Given the description of an element on the screen output the (x, y) to click on. 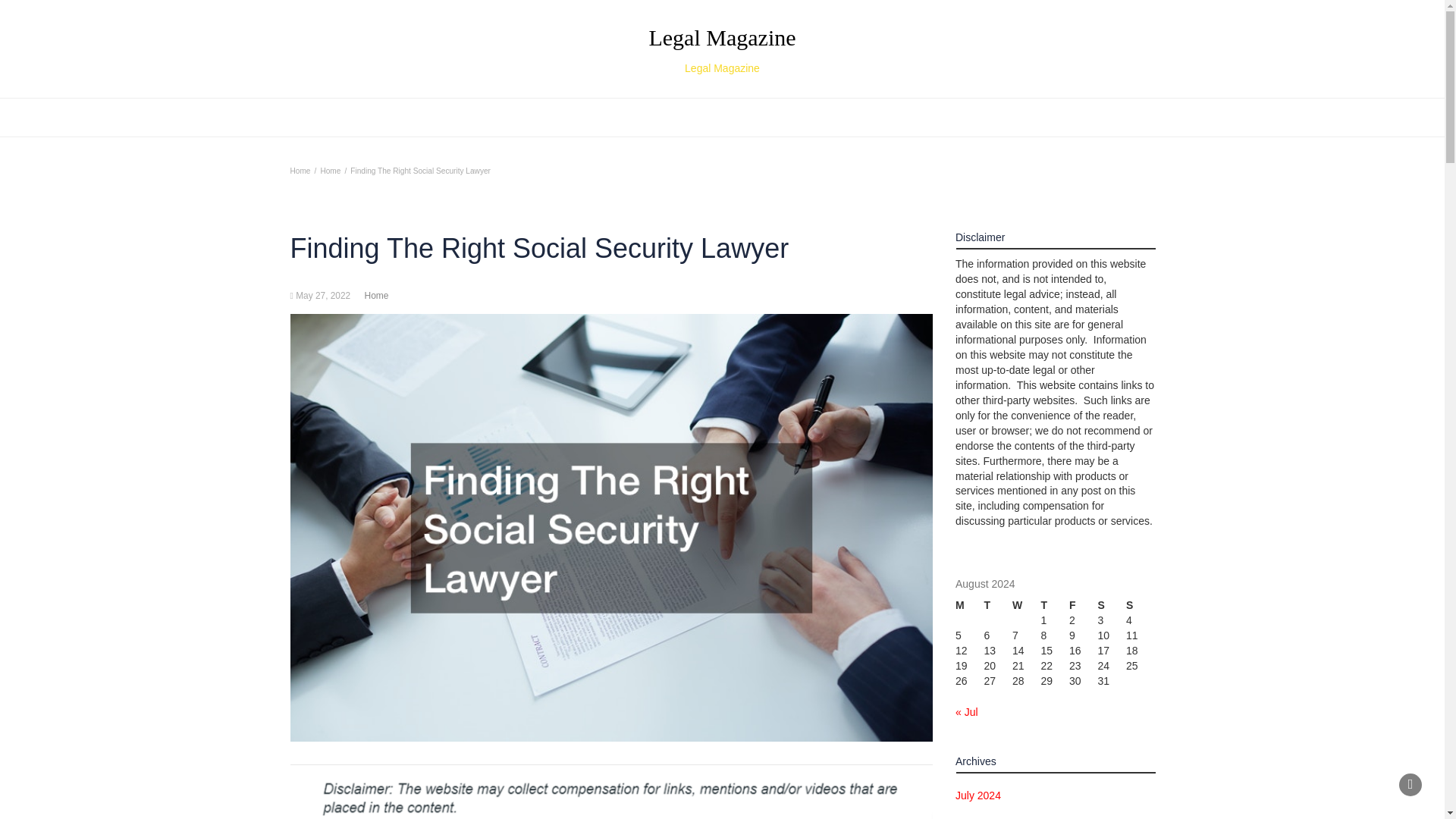
Sunday (1139, 605)
Monday (969, 605)
Home (376, 295)
Home (330, 171)
Saturday (1111, 605)
Thursday (1054, 605)
July 2024 (978, 795)
Wednesday (1026, 605)
Home (722, 48)
Tuesday (299, 171)
May 27, 2022 (998, 605)
Friday (322, 295)
